Given the description of an element on the screen output the (x, y) to click on. 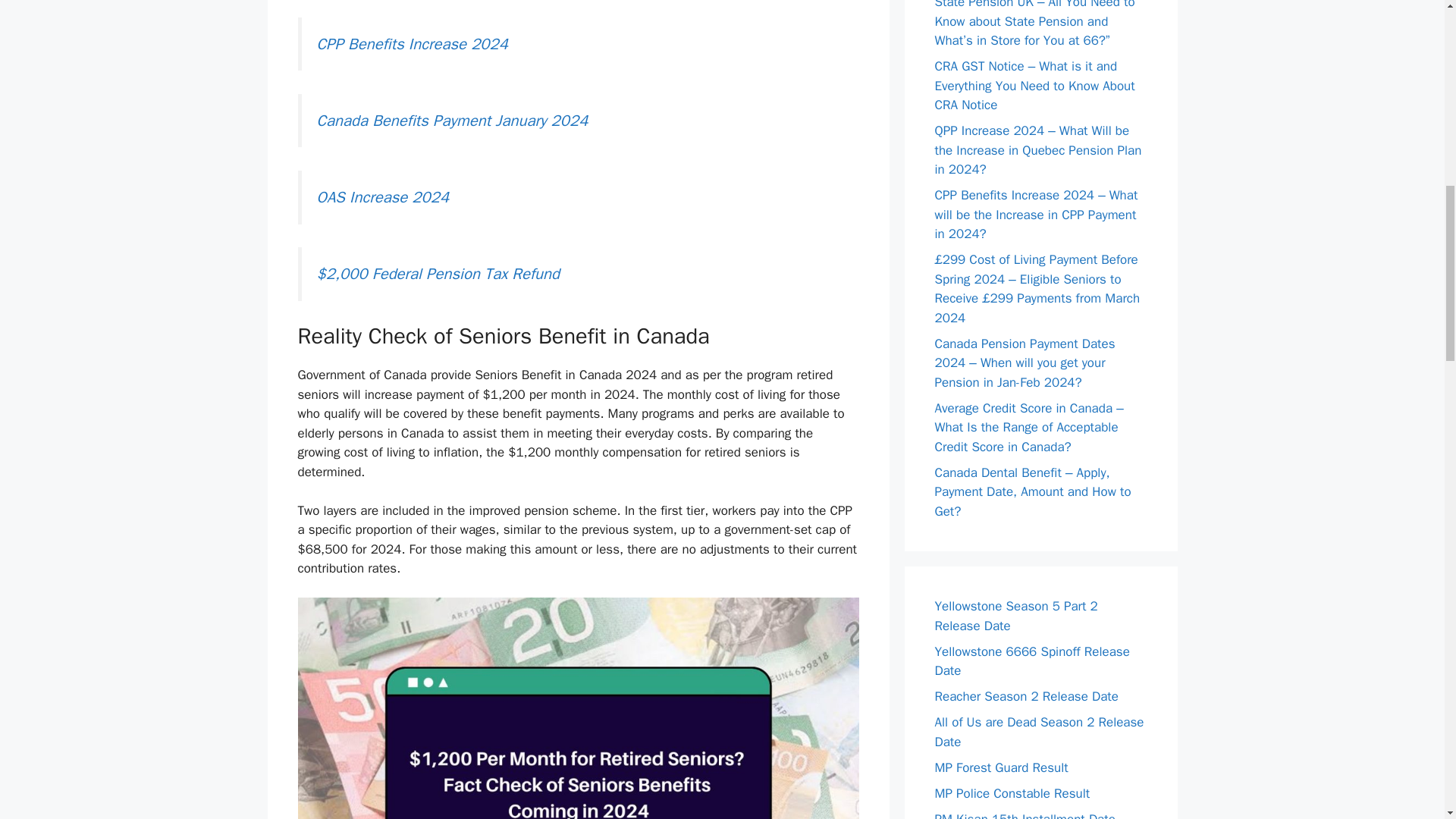
Canada Benefits Payment January 2024 (452, 120)
OAS Increase 2024 (383, 197)
CPP Benefits Increase 2024 (412, 44)
